Given the description of an element on the screen output the (x, y) to click on. 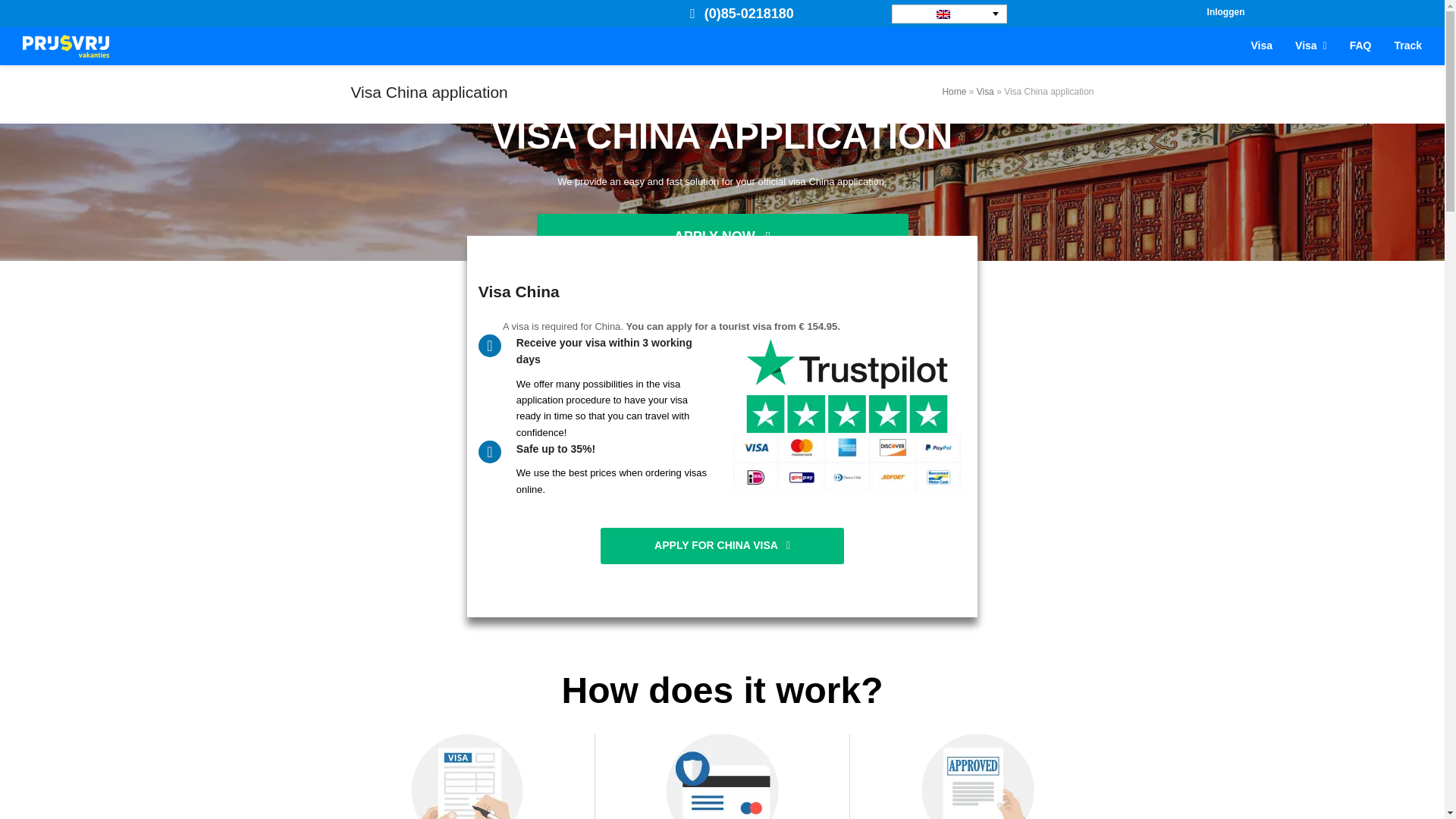
Visa (985, 91)
APPLY NOW (722, 237)
Visa (1311, 46)
Home (722, 46)
FAQ (954, 91)
Track (1360, 46)
APPLY FOR CHINA VISA (1406, 46)
Visa (721, 545)
Inloggen (1262, 46)
